Given the description of an element on the screen output the (x, y) to click on. 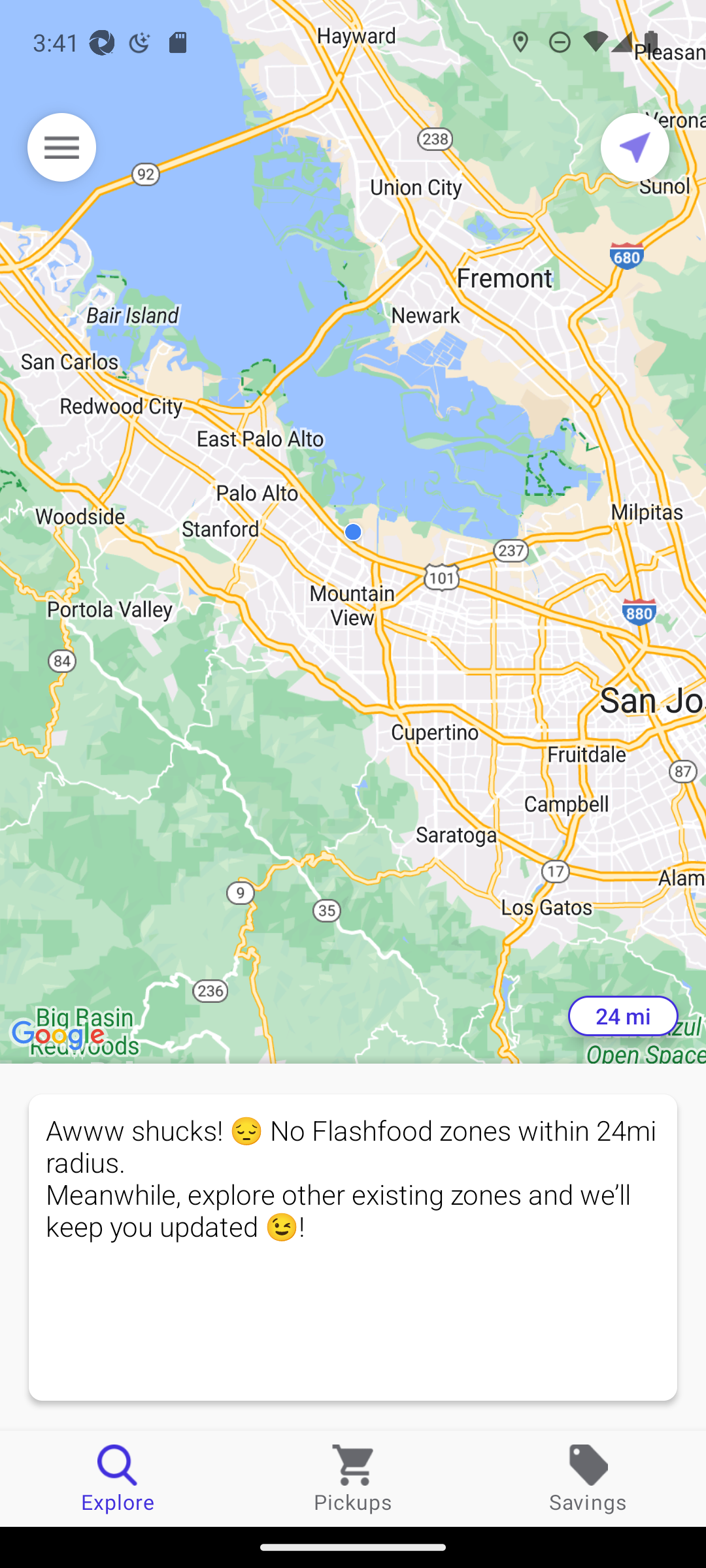
Menu (61, 146)
Current location (634, 146)
24 mi (623, 1015)
Pickups (352, 1478)
Savings (588, 1478)
